Given the description of an element on the screen output the (x, y) to click on. 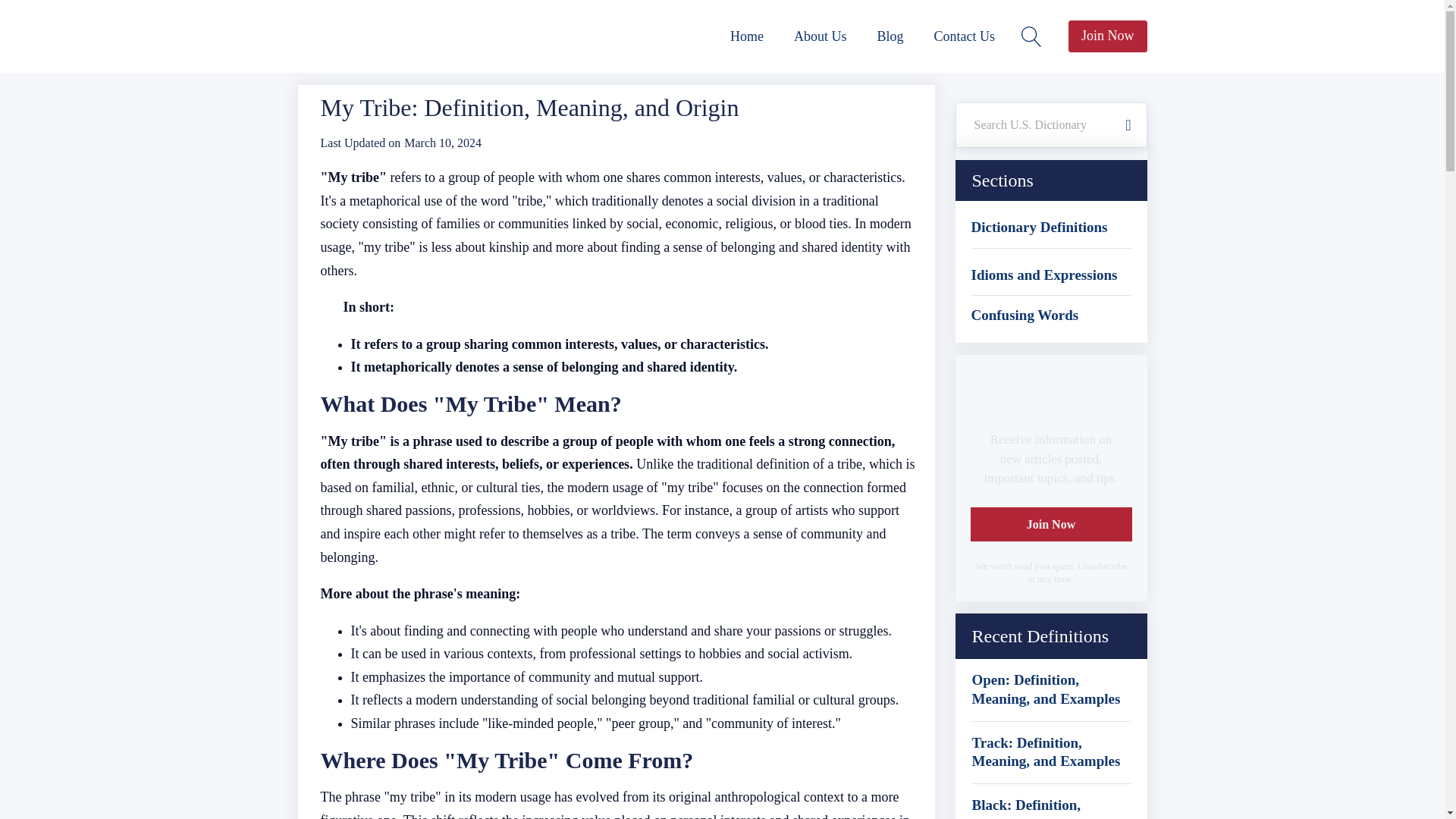
About Us (819, 35)
Open: Definition, Meaning, and Examples (1051, 689)
Confusing Words (1024, 315)
Contact Us (964, 35)
Blog (889, 35)
Dictionary Definitions (1038, 228)
Home (746, 35)
Join Now (1107, 35)
Idioms and Expressions (1043, 275)
Join Now (1051, 524)
